Given the description of an element on the screen output the (x, y) to click on. 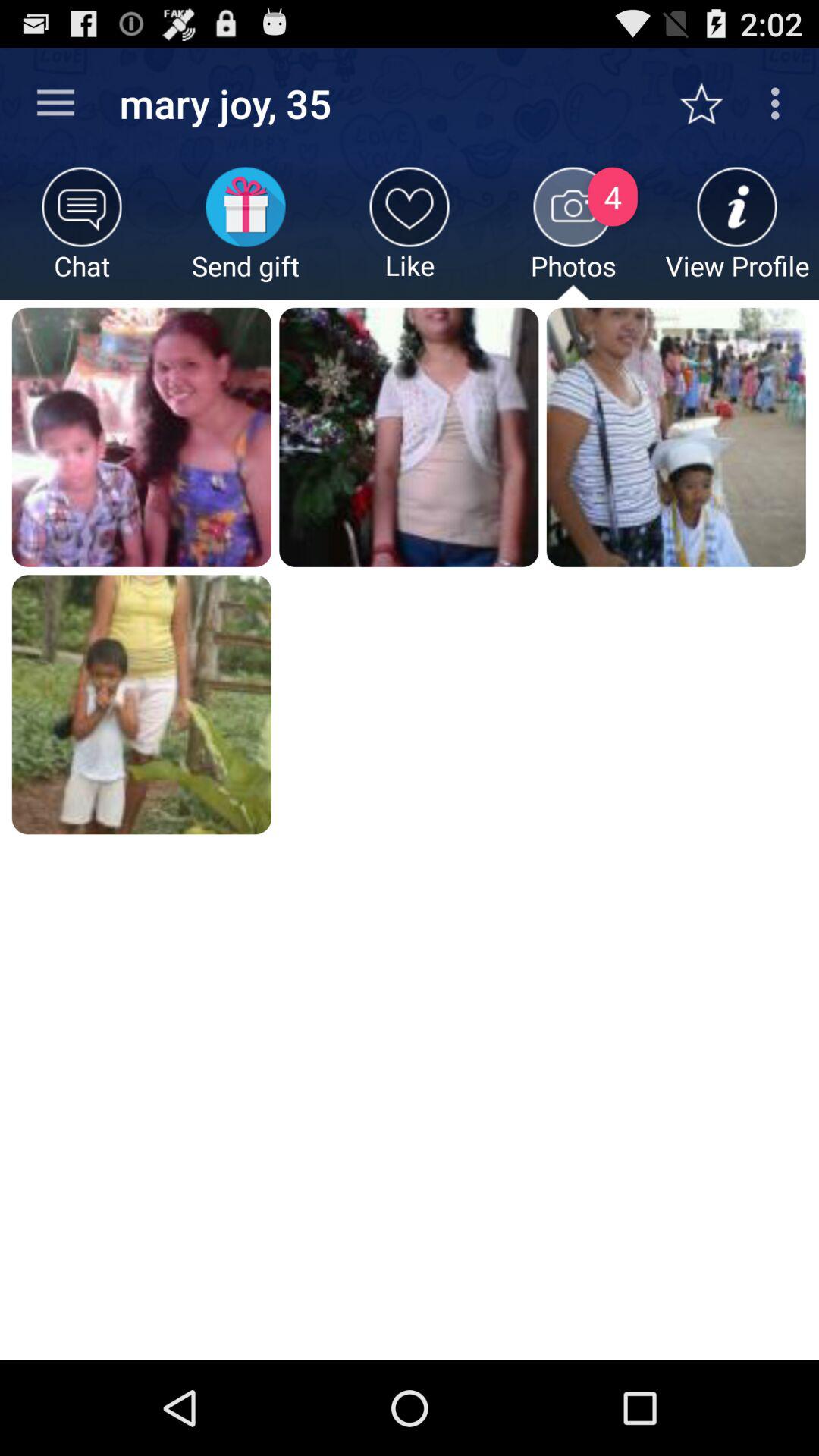
select the icon above chat icon (55, 103)
